Given the description of an element on the screen output the (x, y) to click on. 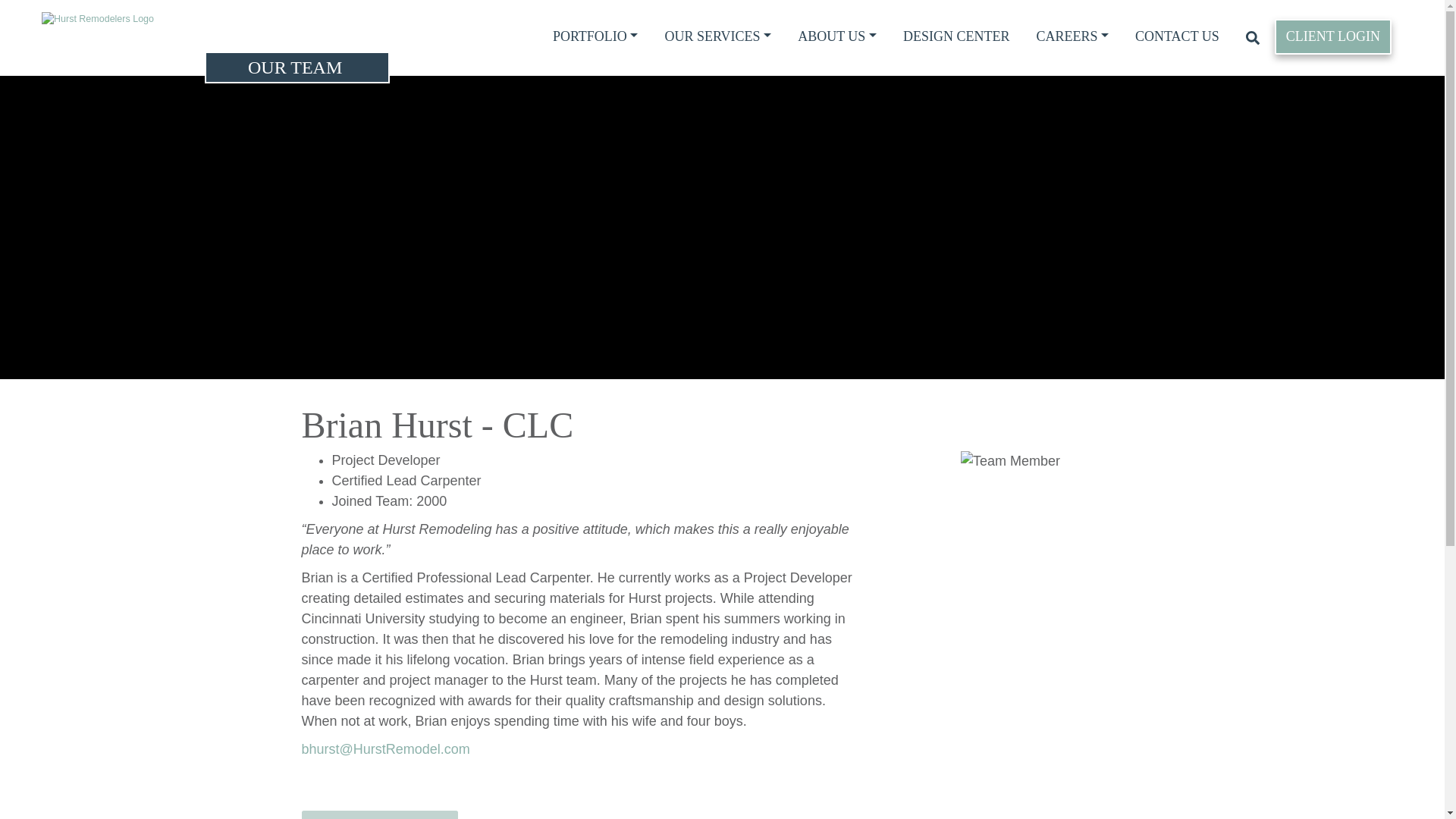
PORTFOLIO (595, 36)
CAREERS (1072, 36)
DESIGN CENTER (956, 36)
ABOUT US (837, 36)
OUR SERVICES (717, 36)
CONTACT US (1177, 36)
